Given the description of an element on the screen output the (x, y) to click on. 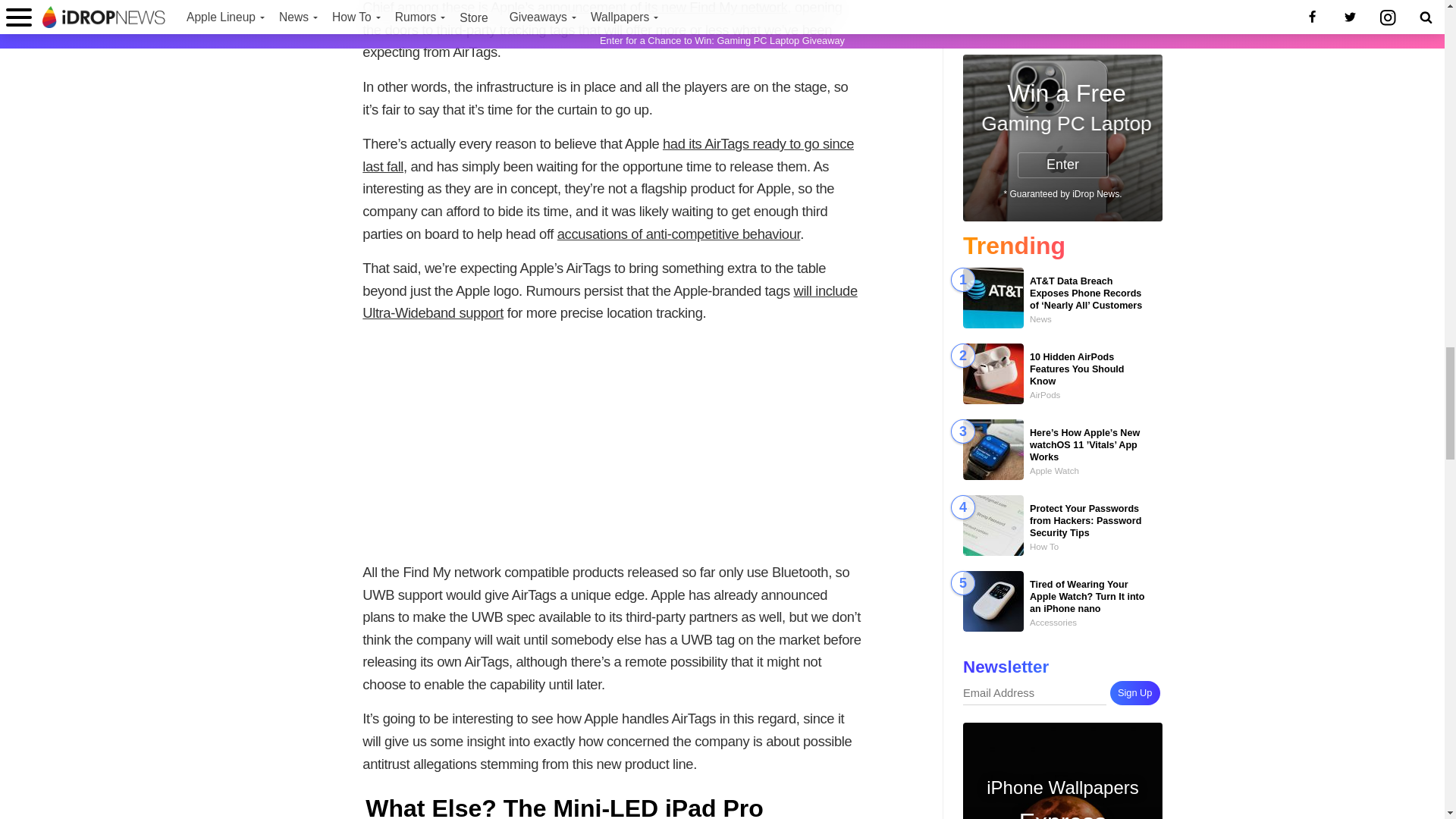
Tile starting making noise to U.S. antitrust regulators (678, 233)
